Given the description of an element on the screen output the (x, y) to click on. 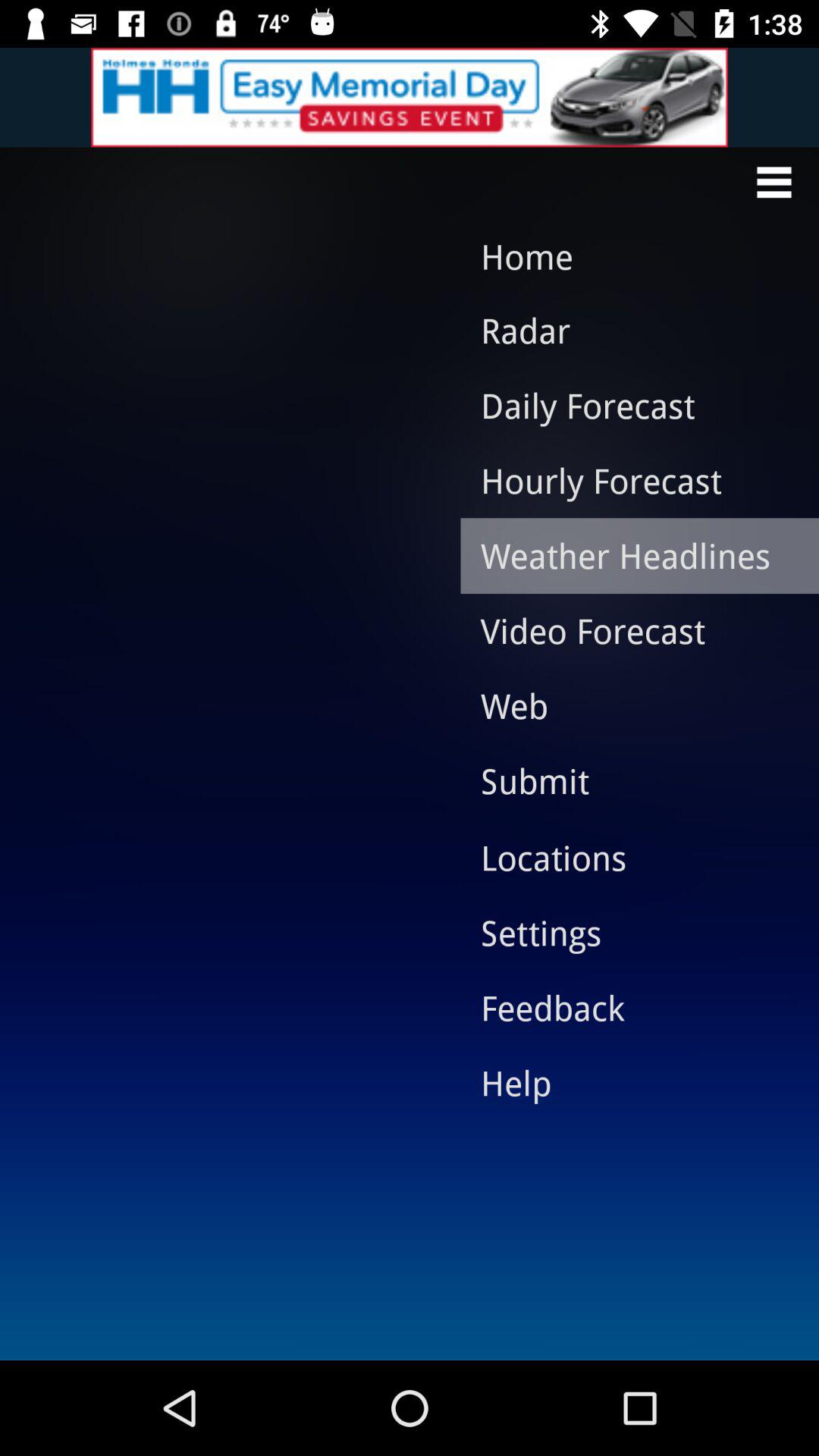
swipe until radar item (627, 330)
